Given the description of an element on the screen output the (x, y) to click on. 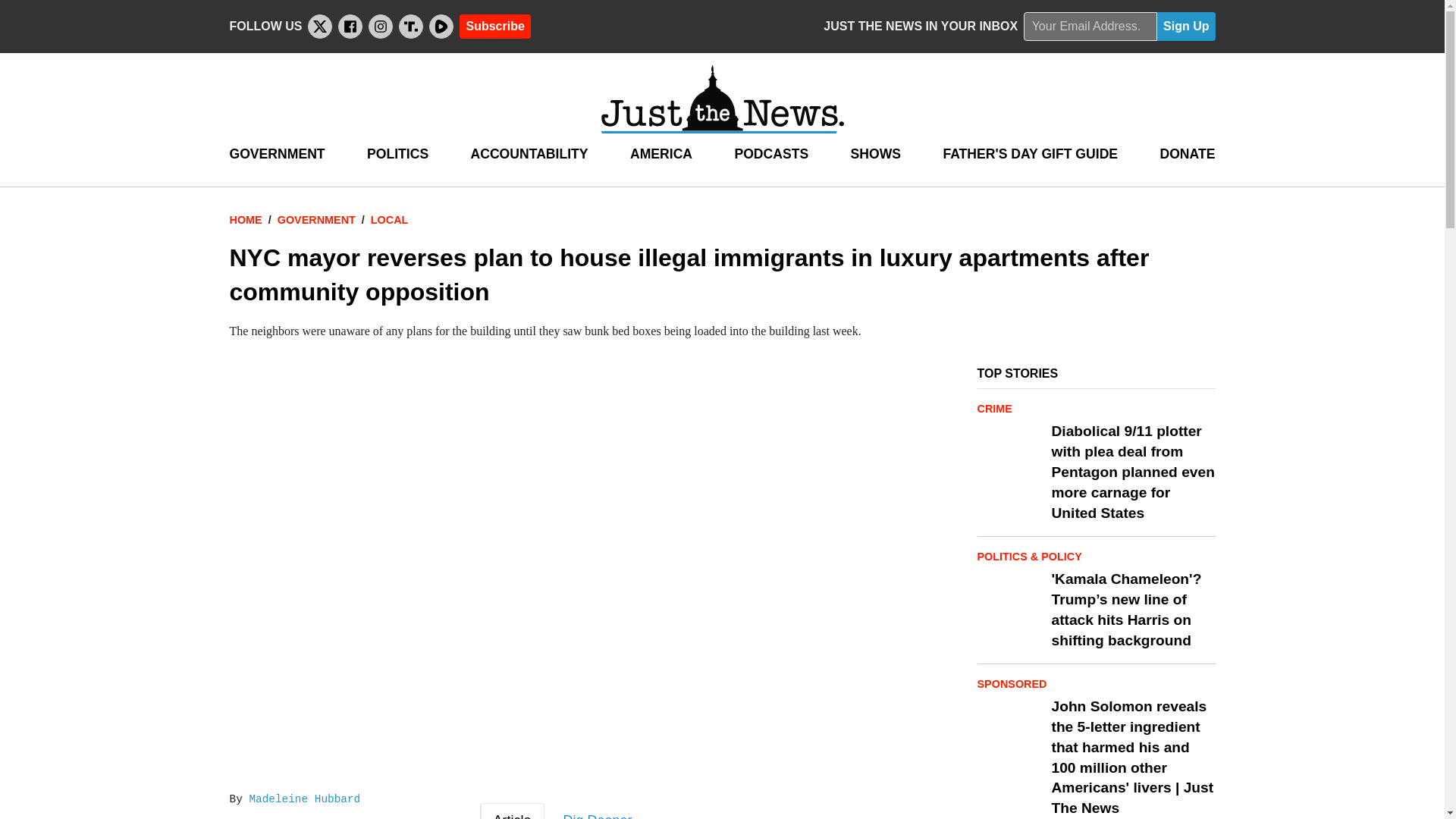
PODCASTS (770, 153)
SHOWS (875, 153)
Sign Up (1185, 26)
FATHER'S DAY GIFT GUIDE (1030, 153)
Sign Up (1185, 26)
GOVERNMENT (276, 153)
Subscribe (494, 26)
DONATE (1186, 153)
POLITICS (397, 153)
AMERICA (661, 153)
ACCOUNTABILITY (529, 153)
